Given the description of an element on the screen output the (x, y) to click on. 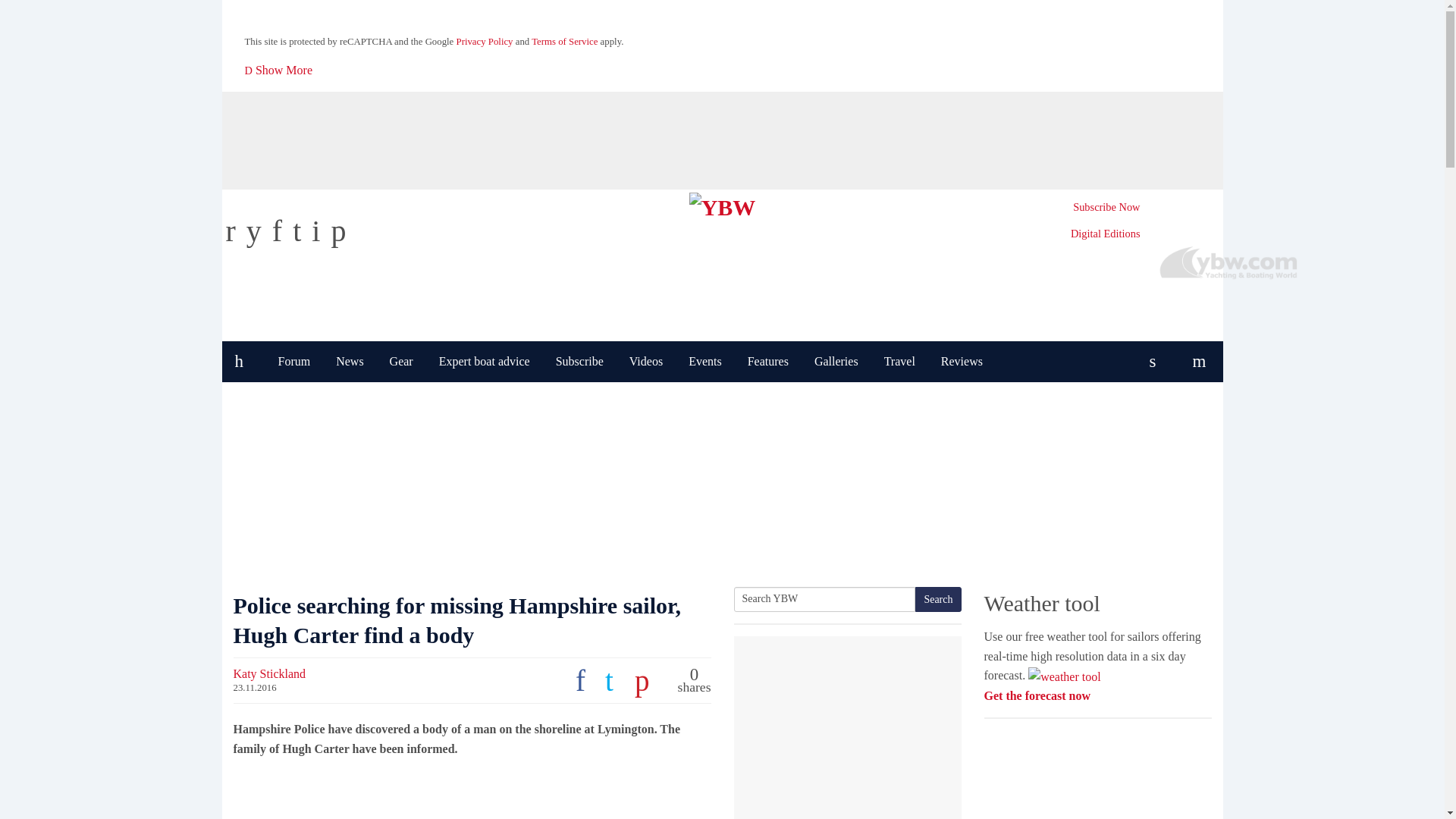
Subscribe Now (1106, 206)
Forum (293, 361)
Show More (278, 69)
YBW (721, 204)
Digital Editions (1105, 233)
Privacy Policy (485, 41)
Katy Stickland's Profile (268, 673)
YBW (721, 204)
Digital Editions (1105, 233)
Terms of Service (563, 41)
